Given the description of an element on the screen output the (x, y) to click on. 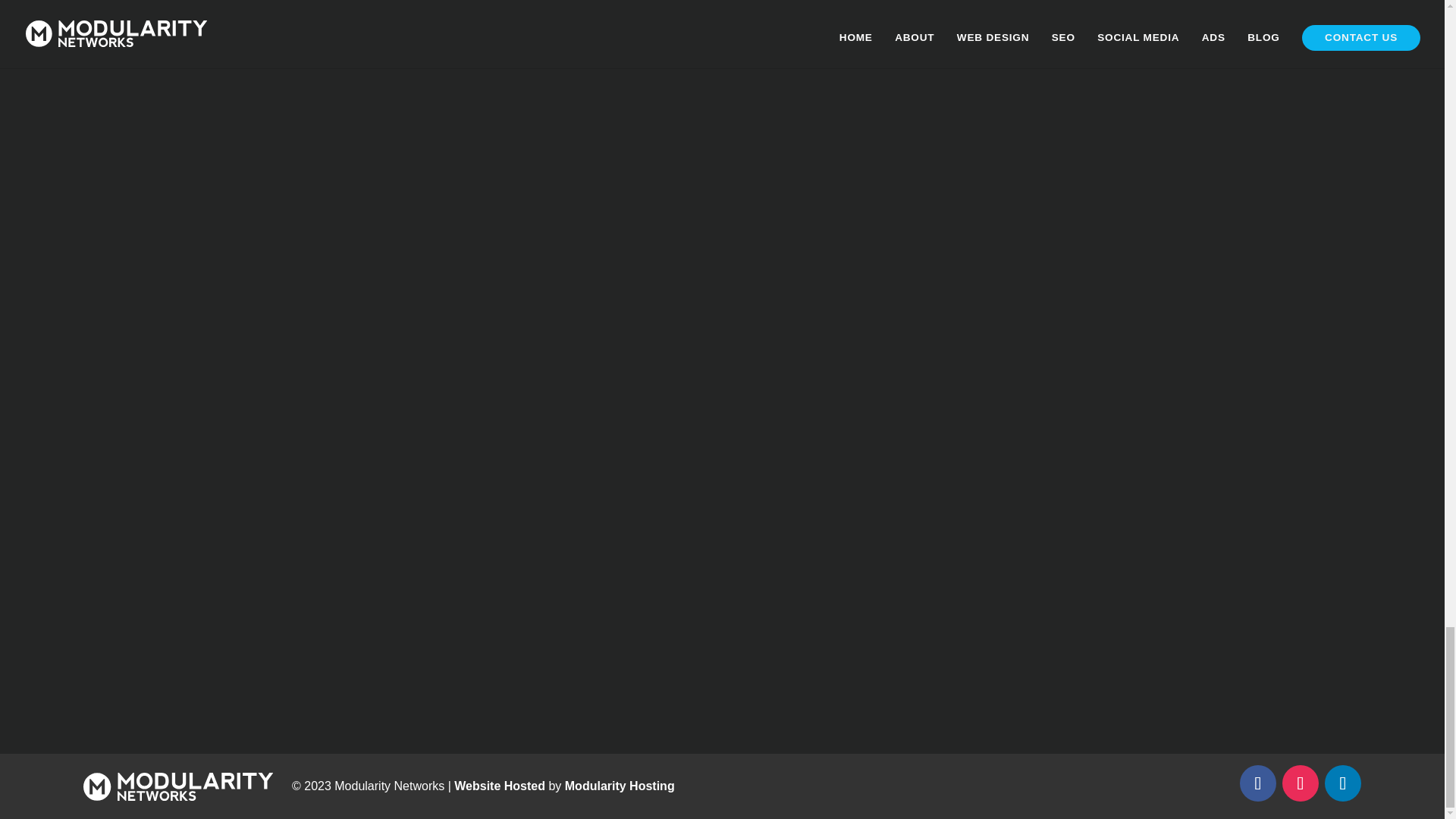
Follow on LinkedIn (1342, 782)
Modularity Hosting (619, 785)
Follow on Facebook (1258, 782)
Submit (366, 628)
Follow on Instagram (1300, 782)
Website Hosted (499, 785)
